Given the description of an element on the screen output the (x, y) to click on. 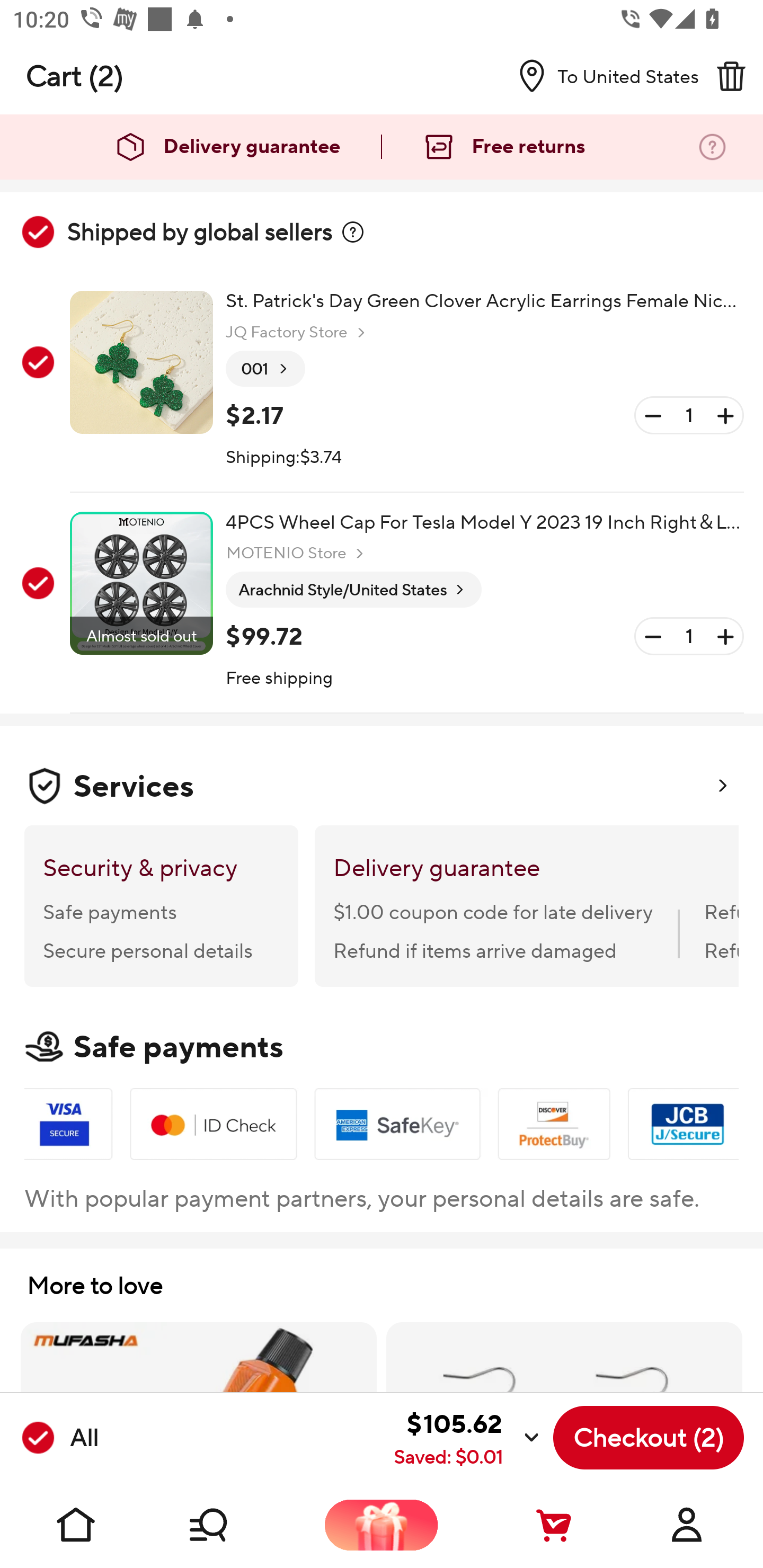
 To United States (601, 75)
 (730, 75)
 (352, 231)
JQ Factory Store (297, 333)
001 (265, 369)
1 (688, 415)
Shipping:$3.74 (283, 457)
MOTENIO Store (296, 553)
Arachnid Style/United States (353, 590)
1 (688, 636)
Free shipping (279, 678)
$_105.62 Saved: $0.01  (324, 1437)
Checkout (2) (648, 1437)
Home (76, 1524)
Shop (228, 1524)
Account (686, 1524)
